Given the description of an element on the screen output the (x, y) to click on. 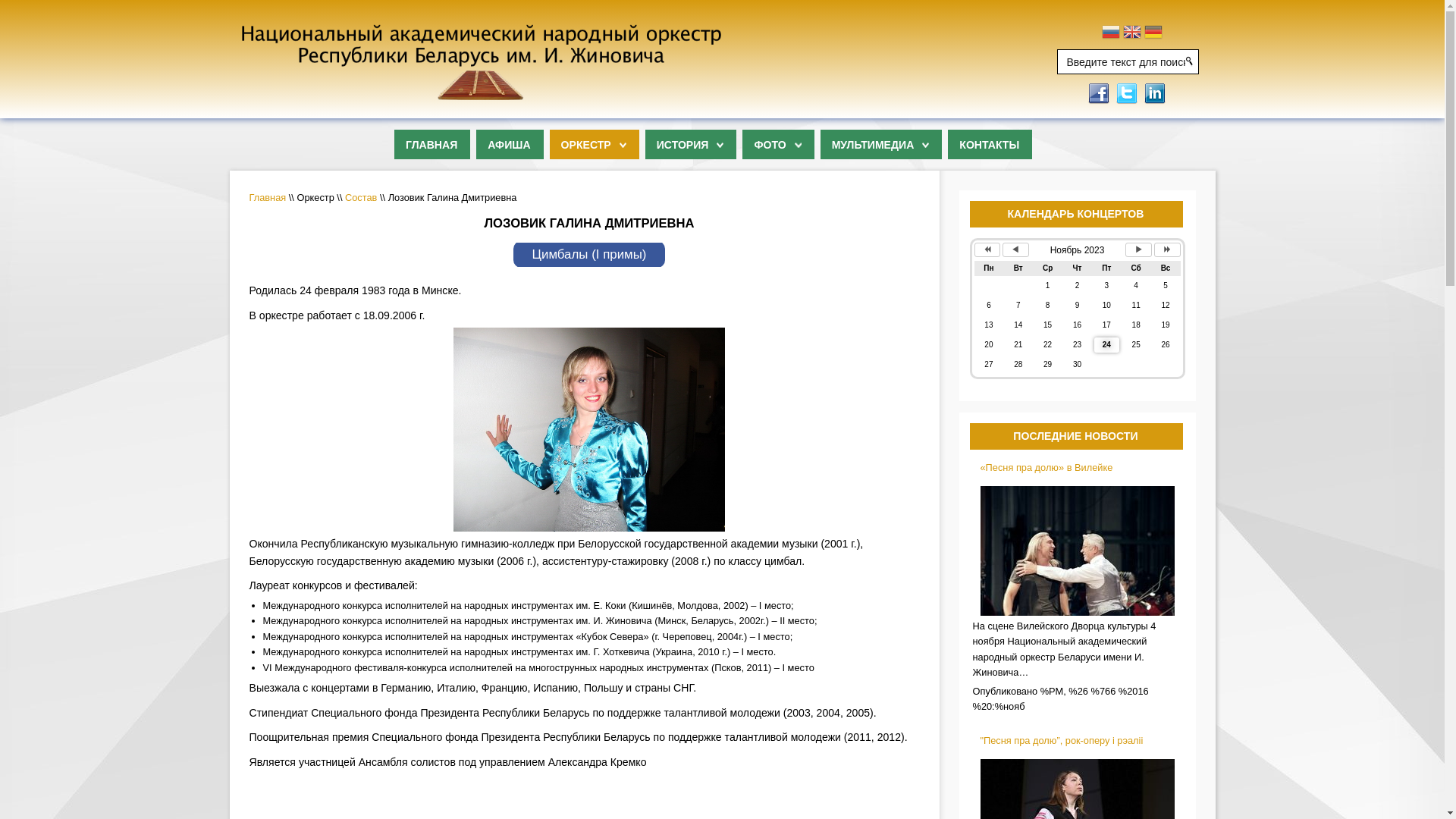
Russian Element type: hover (1110, 33)
Submit to Twitter Element type: hover (1126, 91)
English Element type: hover (1132, 33)
Submit to Facebook Element type: hover (1097, 91)
Submit to LinkedIn Element type: hover (1154, 91)
German Element type: hover (1153, 33)
